Given the description of an element on the screen output the (x, y) to click on. 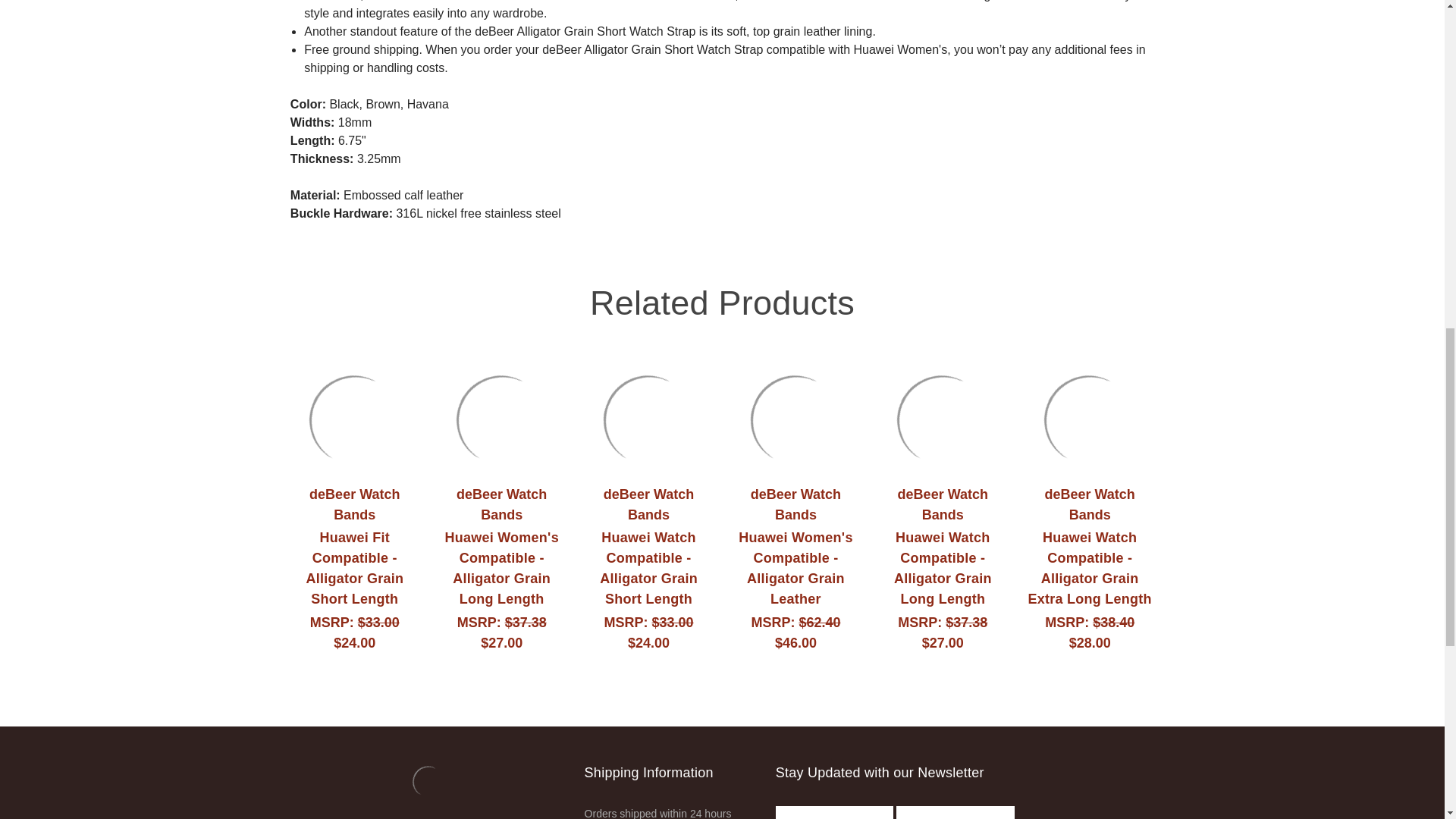
alligator grain long replacement watch band (501, 420)
alligator grain replacement watch band (796, 420)
alligator grain short replacement watch band (649, 420)
alligator grain short replacement watch band (354, 420)
alligator grain extra long replacement watch band (1088, 420)
alligator grain long replacement watch band (941, 420)
